Given the description of an element on the screen output the (x, y) to click on. 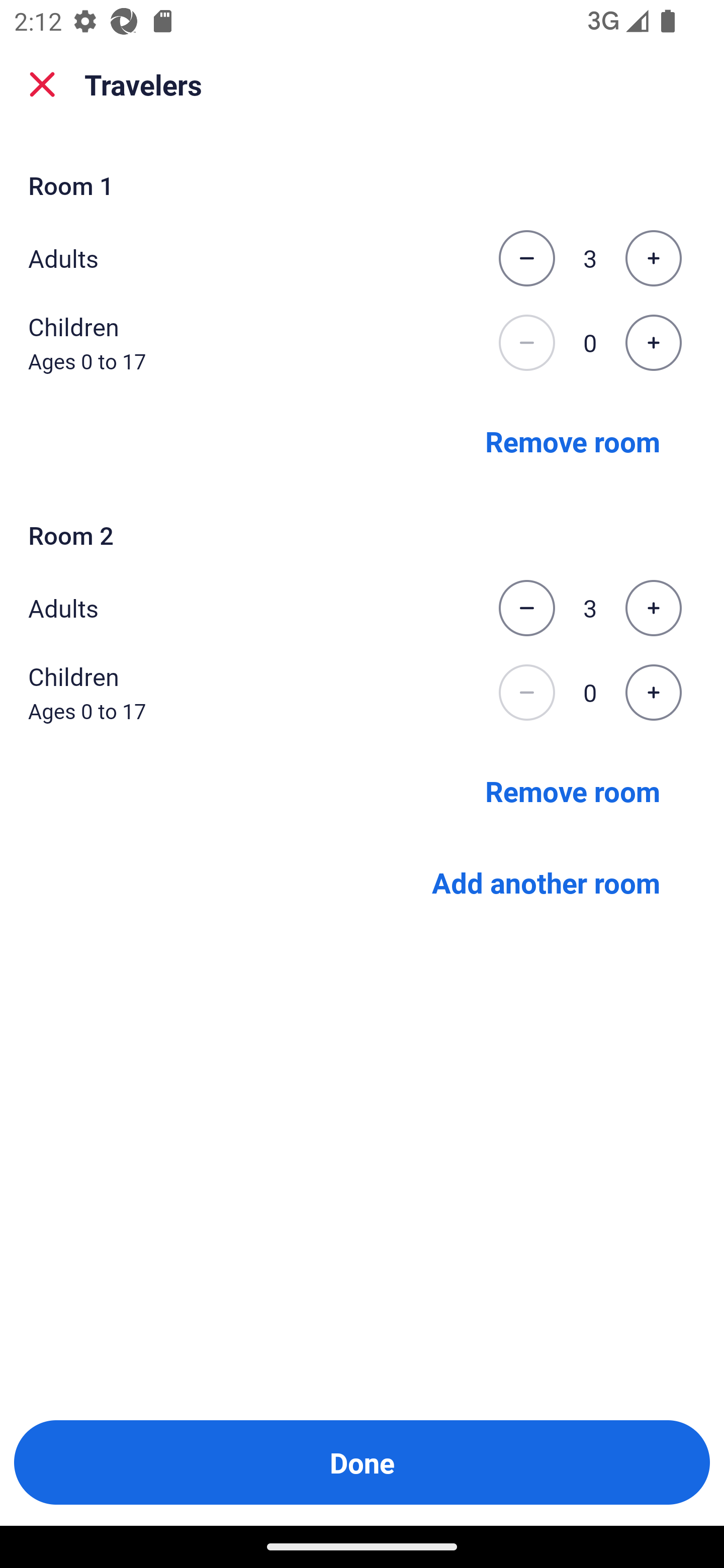
close (42, 84)
Decrease the number of adults (526, 258)
Increase the number of adults (653, 258)
Decrease the number of children (526, 343)
Increase the number of children (653, 343)
Remove room (572, 440)
Decrease the number of adults (526, 608)
Increase the number of adults (653, 608)
Decrease the number of children (526, 692)
Increase the number of children (653, 692)
Remove room (572, 790)
Add another room (545, 882)
Done (361, 1462)
